Given the description of an element on the screen output the (x, y) to click on. 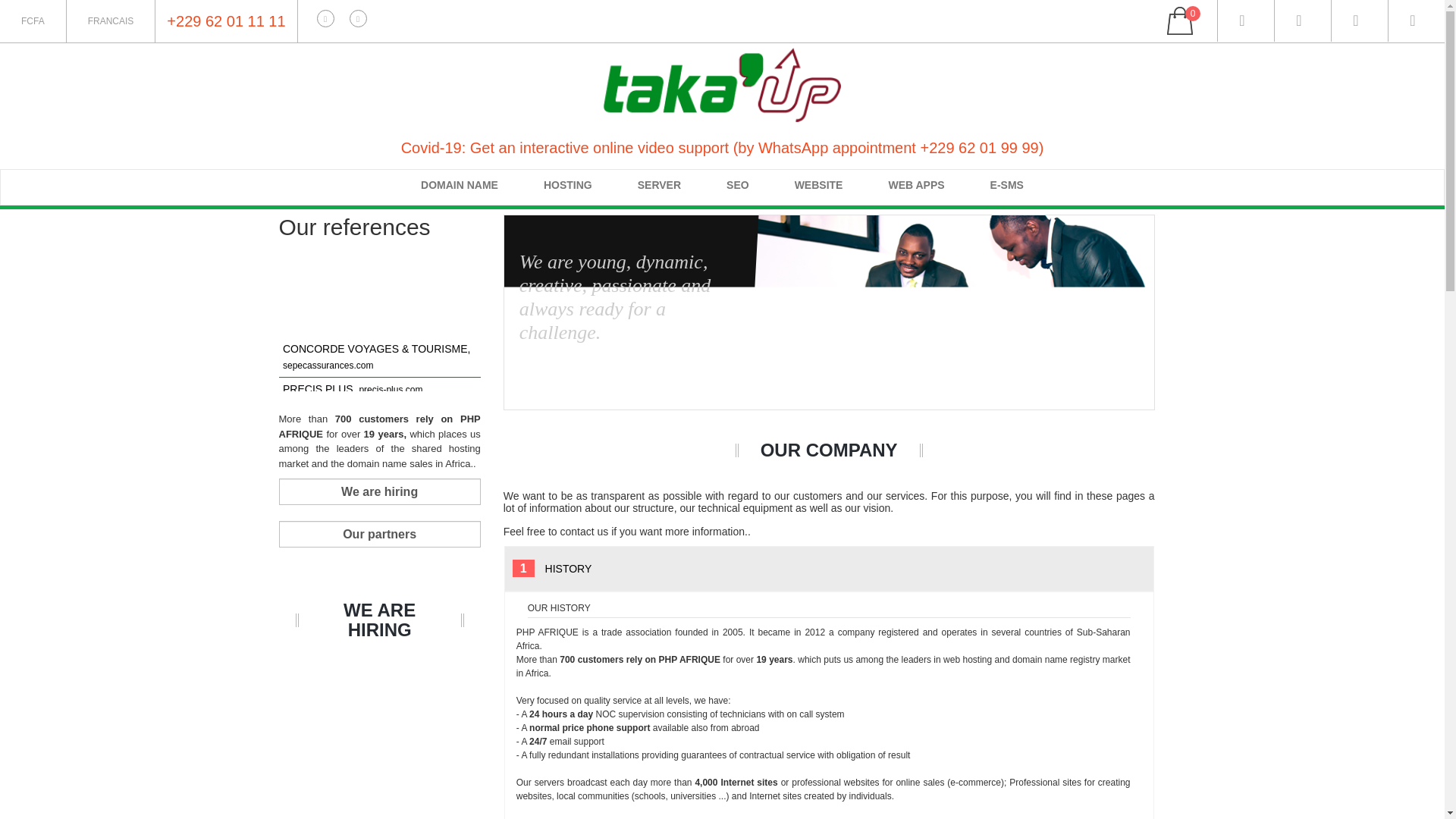
Our partners (379, 533)
FRANCAIS (110, 21)
Home (299, 183)
SEO (737, 184)
DOMAIN NAME (459, 184)
Francais (110, 21)
WEBSITE (818, 184)
FCFA (32, 21)
0 (1200, 20)
CUSTOMER AREA (1245, 20)
SUPPORT (1359, 20)
FAQ (1302, 20)
SERVER (658, 184)
E-SMS (1007, 184)
1 HISTORY (828, 568)
